Given the description of an element on the screen output the (x, y) to click on. 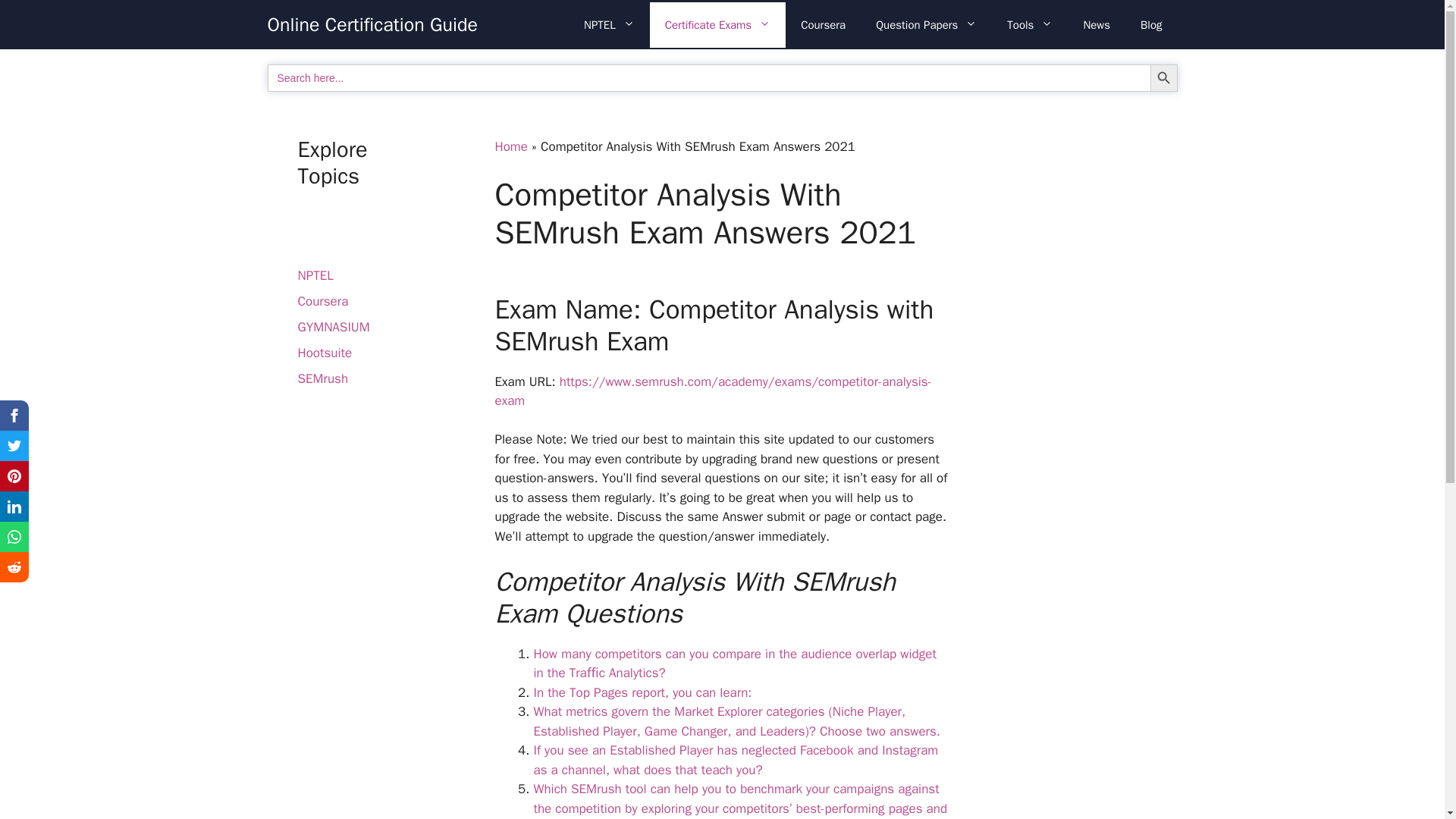
Certificate Exams (717, 23)
Online Certification Guide (371, 24)
NPTEL (609, 23)
